Given the description of an element on the screen output the (x, y) to click on. 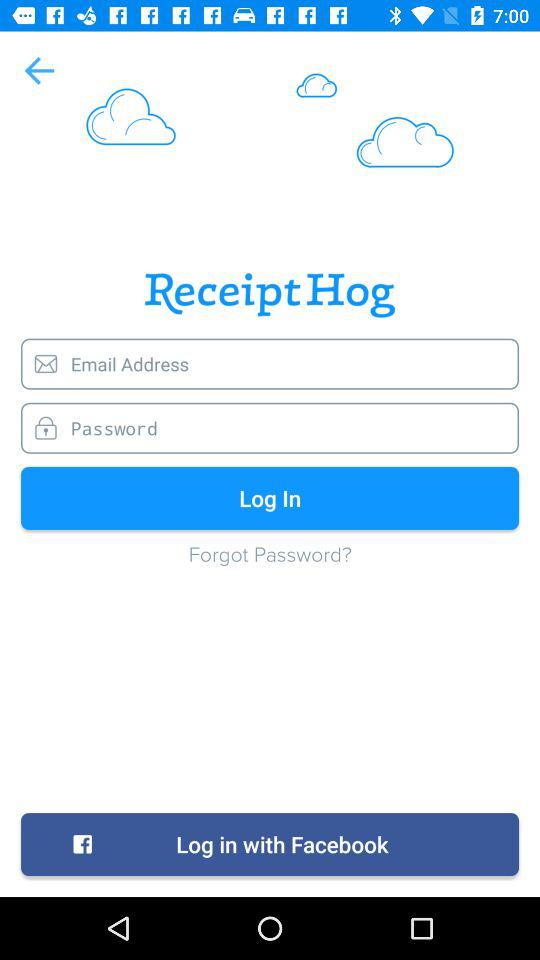
launch icon above the log in with (270, 563)
